Given the description of an element on the screen output the (x, y) to click on. 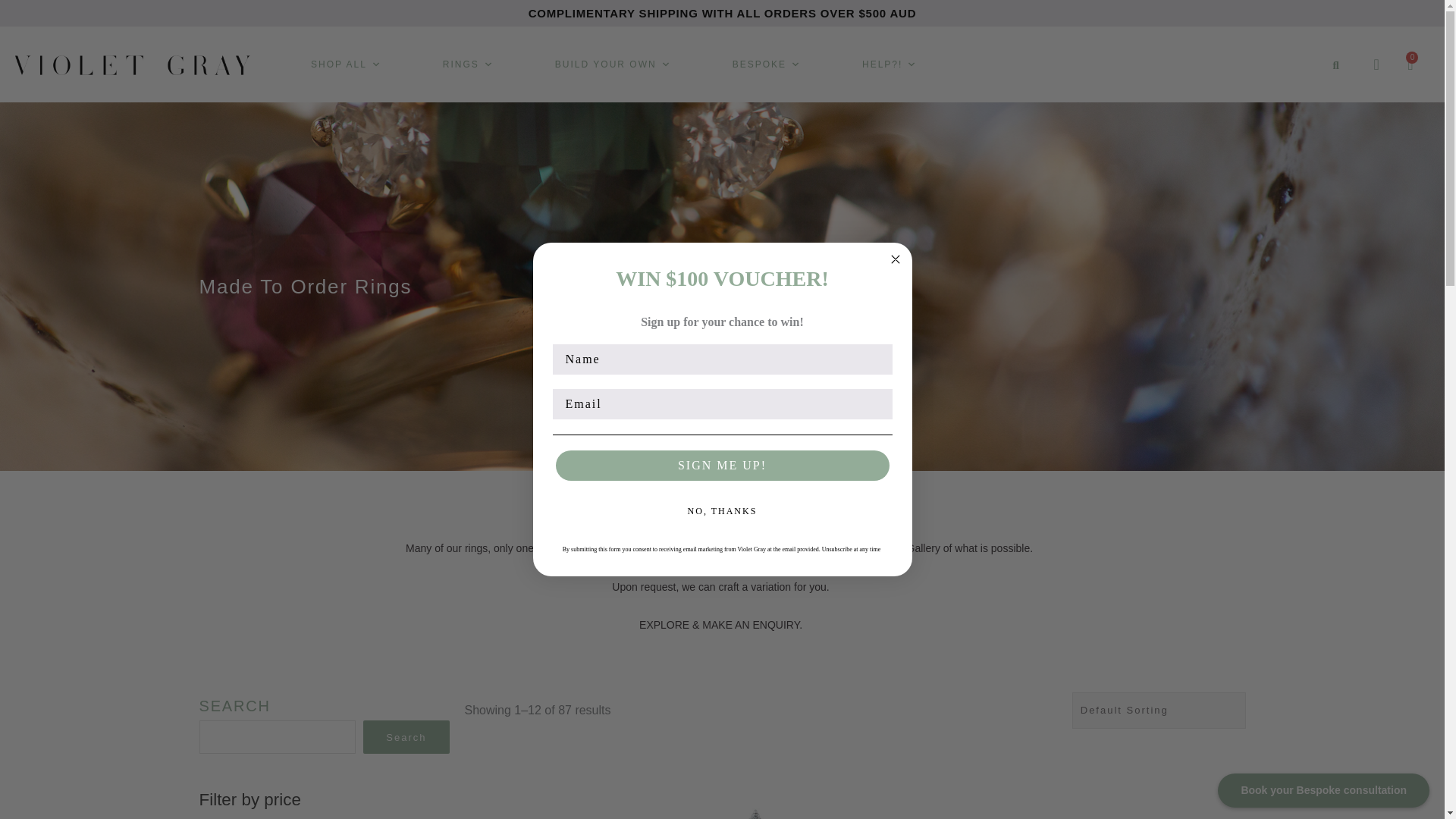
HELP?! (889, 64)
BESPOKE (766, 64)
SHOP ALL (346, 64)
RINGS (468, 64)
BUILD YOUR OWN (612, 64)
